Given the description of an element on the screen output the (x, y) to click on. 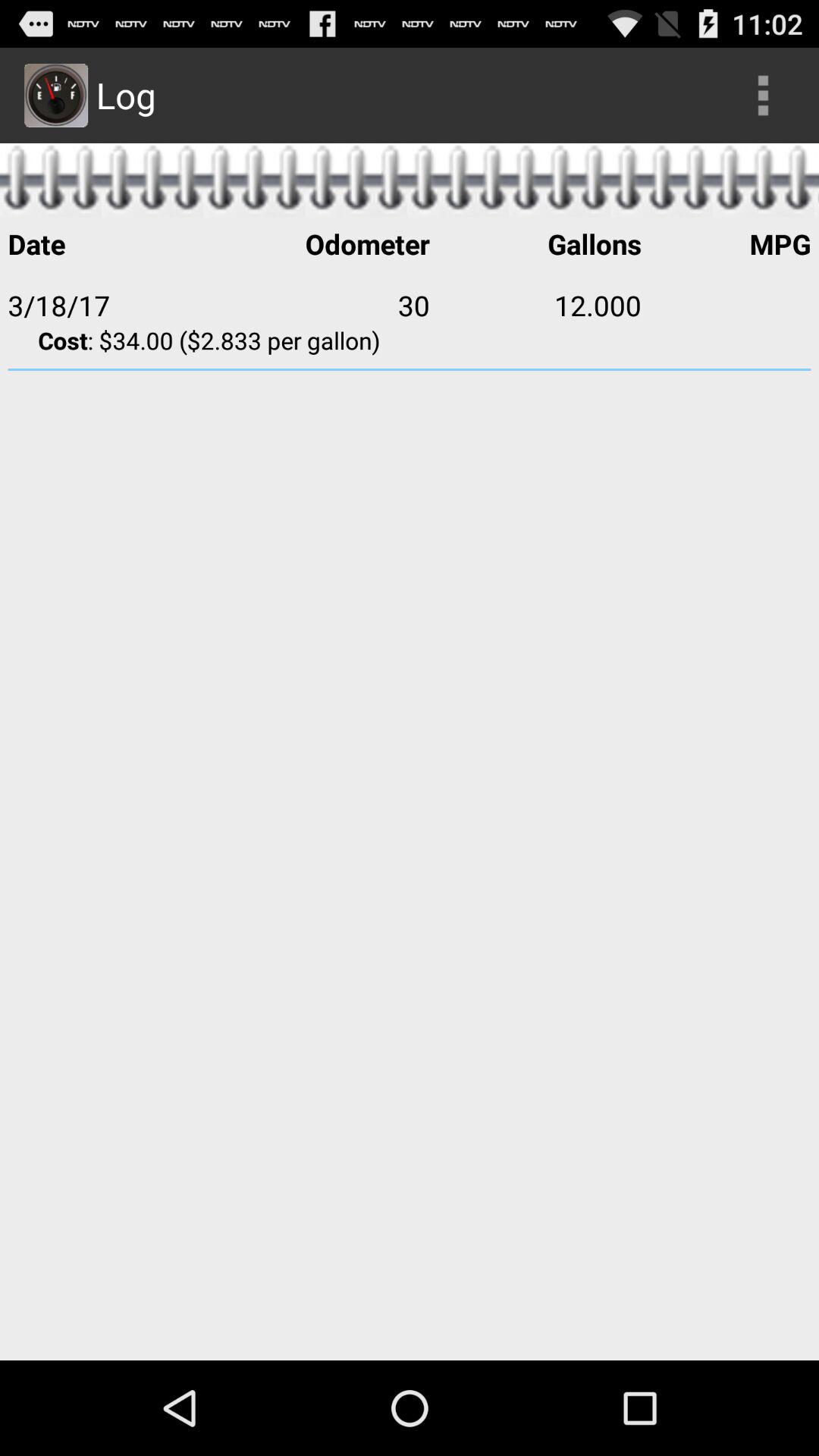
turn off app below gallons app (726, 305)
